Given the description of an element on the screen output the (x, y) to click on. 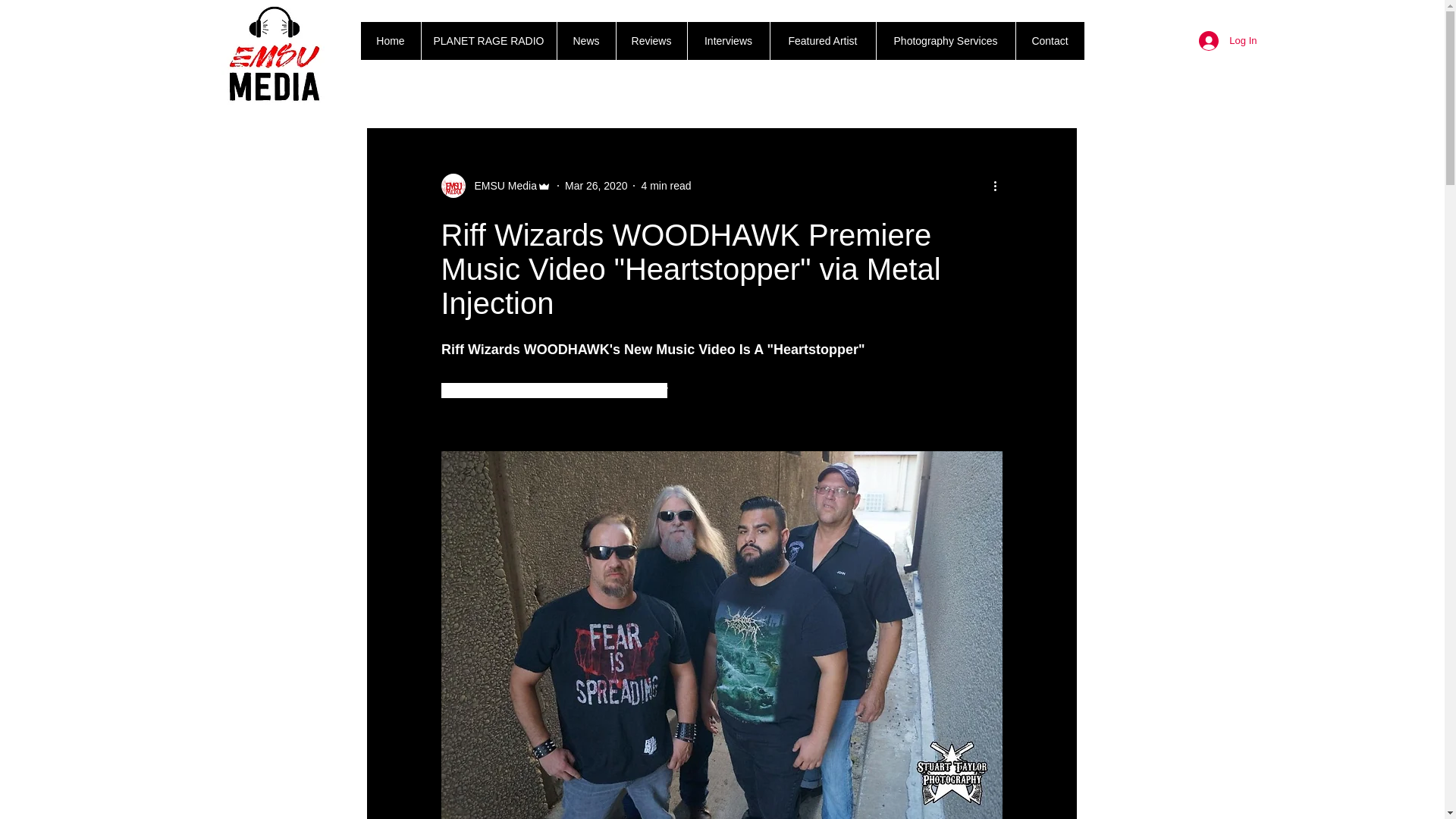
4 min read (665, 184)
Mar 26, 2020 (595, 184)
Home (390, 40)
PLANET RAGE RADIO (488, 40)
EMSU Media (501, 185)
Photography Services (944, 40)
Featured Artist (821, 40)
Log In (1227, 40)
News (585, 40)
Interviews (728, 40)
